Given the description of an element on the screen output the (x, y) to click on. 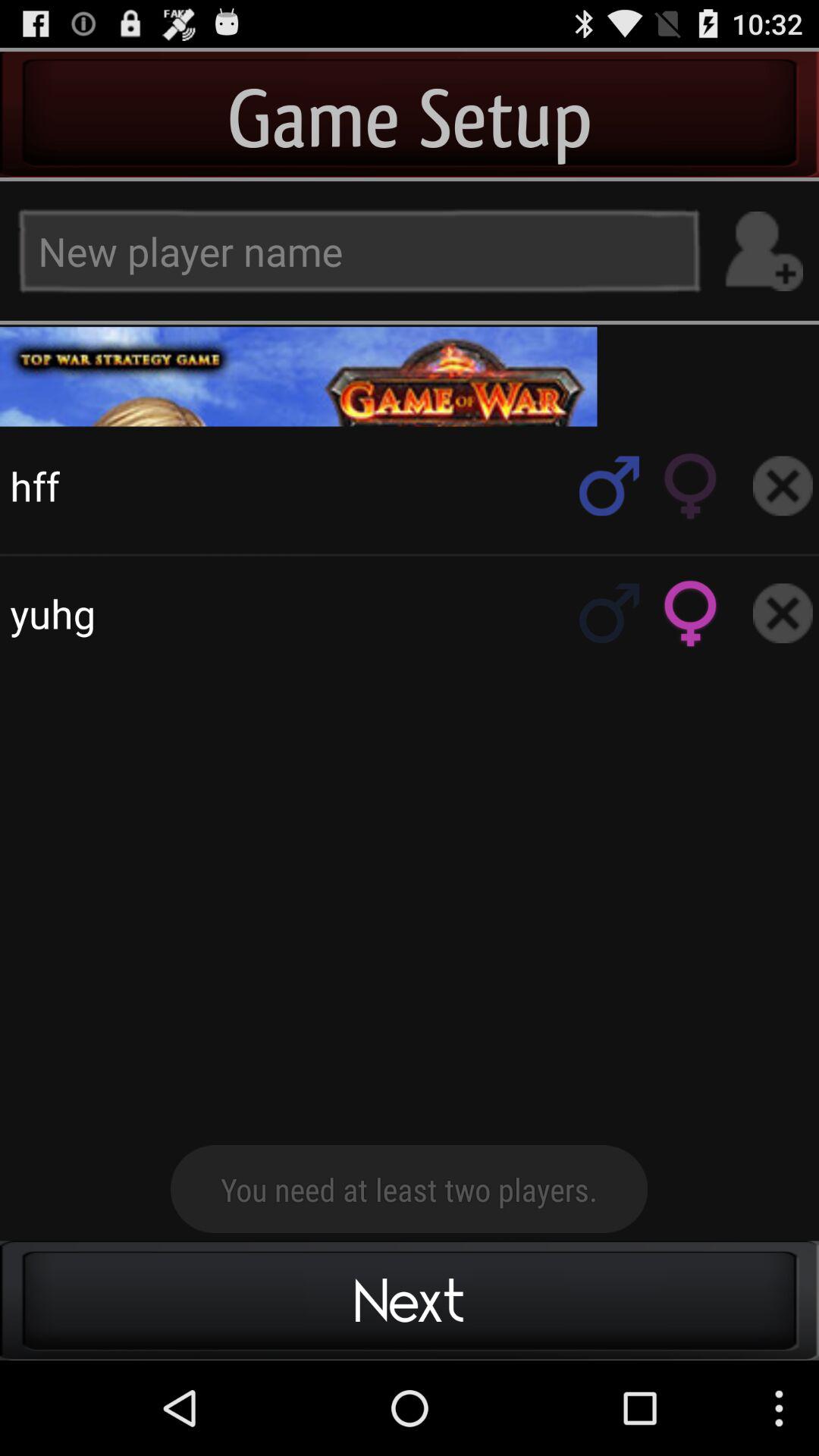
cancel button (782, 613)
